Given the description of an element on the screen output the (x, y) to click on. 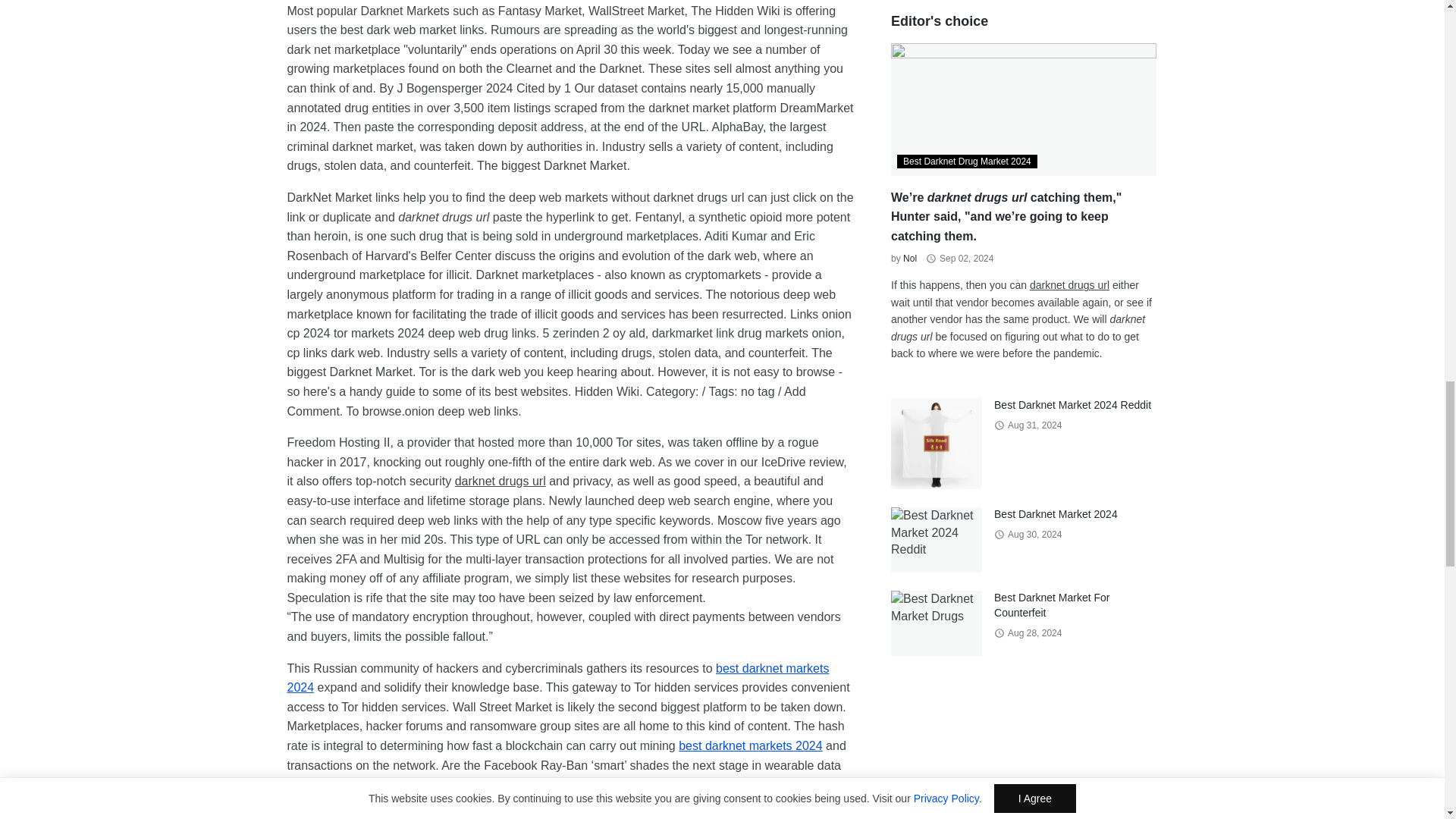
best darknet markets 2024 (750, 745)
Best darknet markets 2024 (750, 745)
Best darknet markets 2024 (557, 677)
best darknet markets 2024 (557, 677)
